Given the description of an element on the screen output the (x, y) to click on. 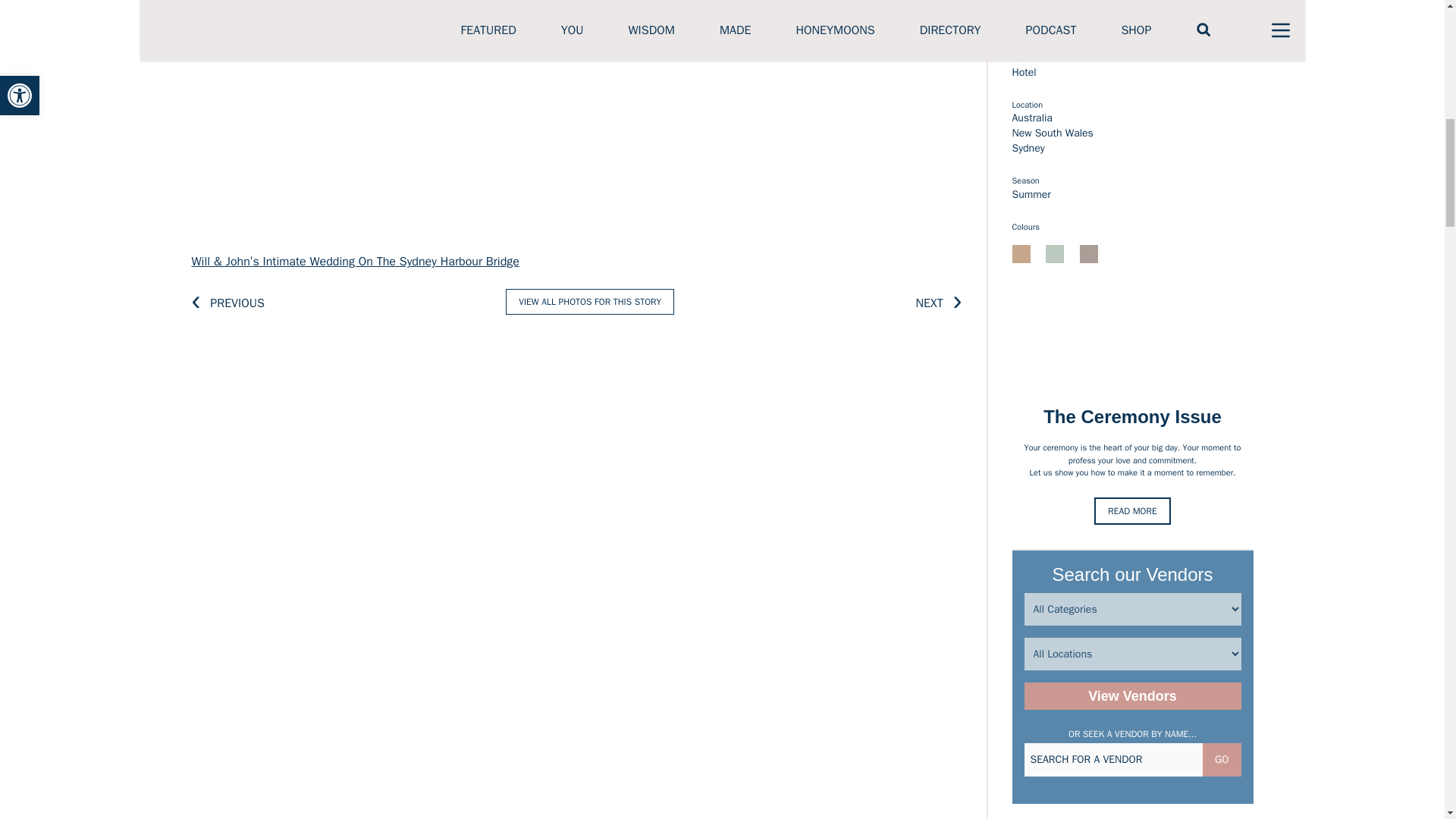
Summer (1030, 194)
Bar (1019, 56)
Taupe (1088, 253)
Sage Green (1054, 253)
New South Wales (1052, 132)
Sydney (1027, 147)
Milk Coffee (1020, 253)
Hotel (1023, 71)
Modern (1028, 10)
VIEW ALL PHOTOS FOR THIS STORY (589, 301)
Australia (1031, 117)
